Given the description of an element on the screen output the (x, y) to click on. 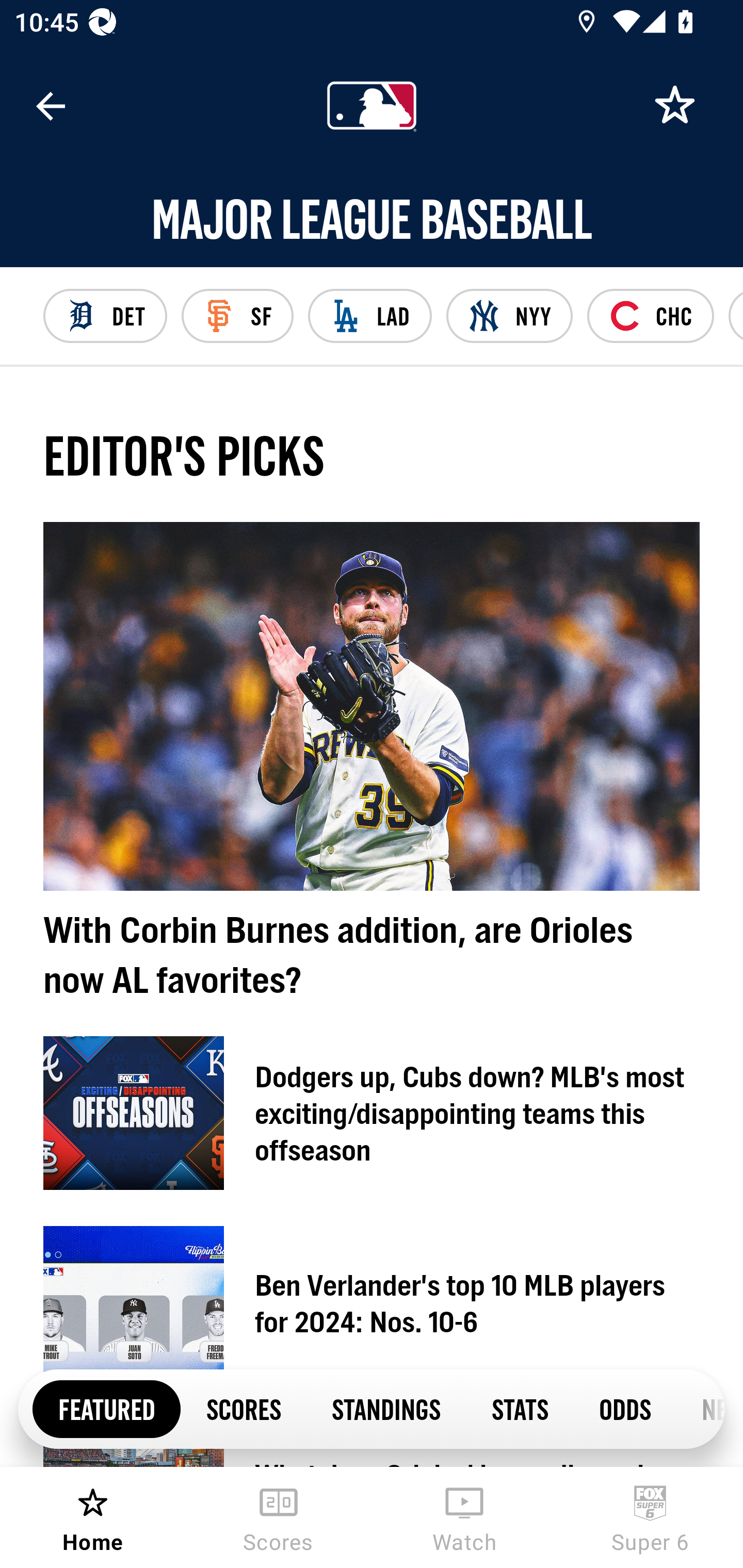
Navigate up (50, 106)
DET (105, 315)
SF (237, 315)
LAD (369, 315)
NYY (509, 315)
CHC (650, 315)
SCORES (243, 1408)
STANDINGS (385, 1408)
STATS (519, 1408)
ODDS (624, 1408)
Scores (278, 1517)
Watch (464, 1517)
Super 6 (650, 1517)
